Given the description of an element on the screen output the (x, y) to click on. 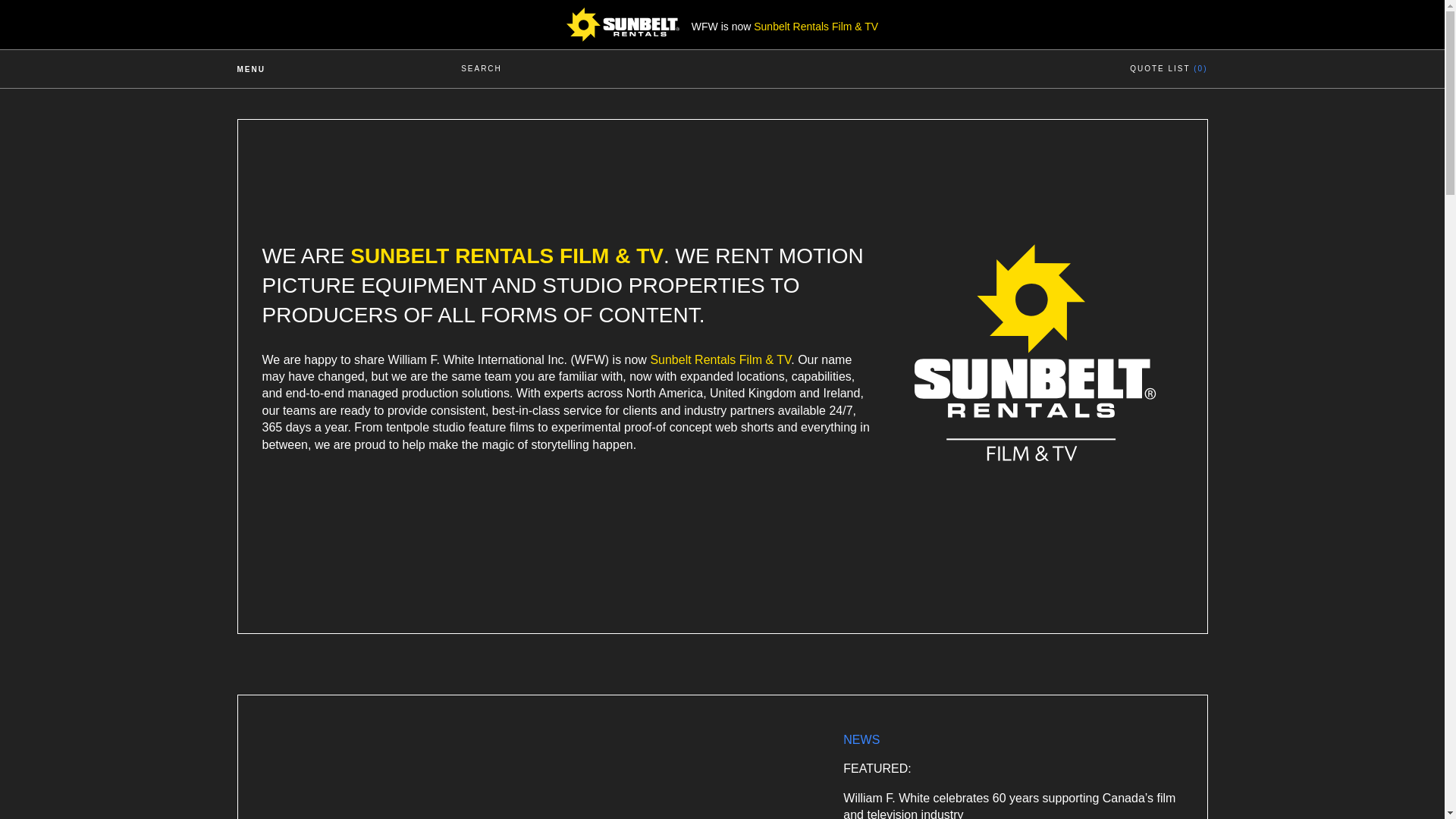
SEARCH (481, 68)
MENU (287, 68)
Enter the terms you wish to search for. (672, 56)
Sunbelt Rentals (1034, 456)
Search (1162, 56)
